Given the description of an element on the screen output the (x, y) to click on. 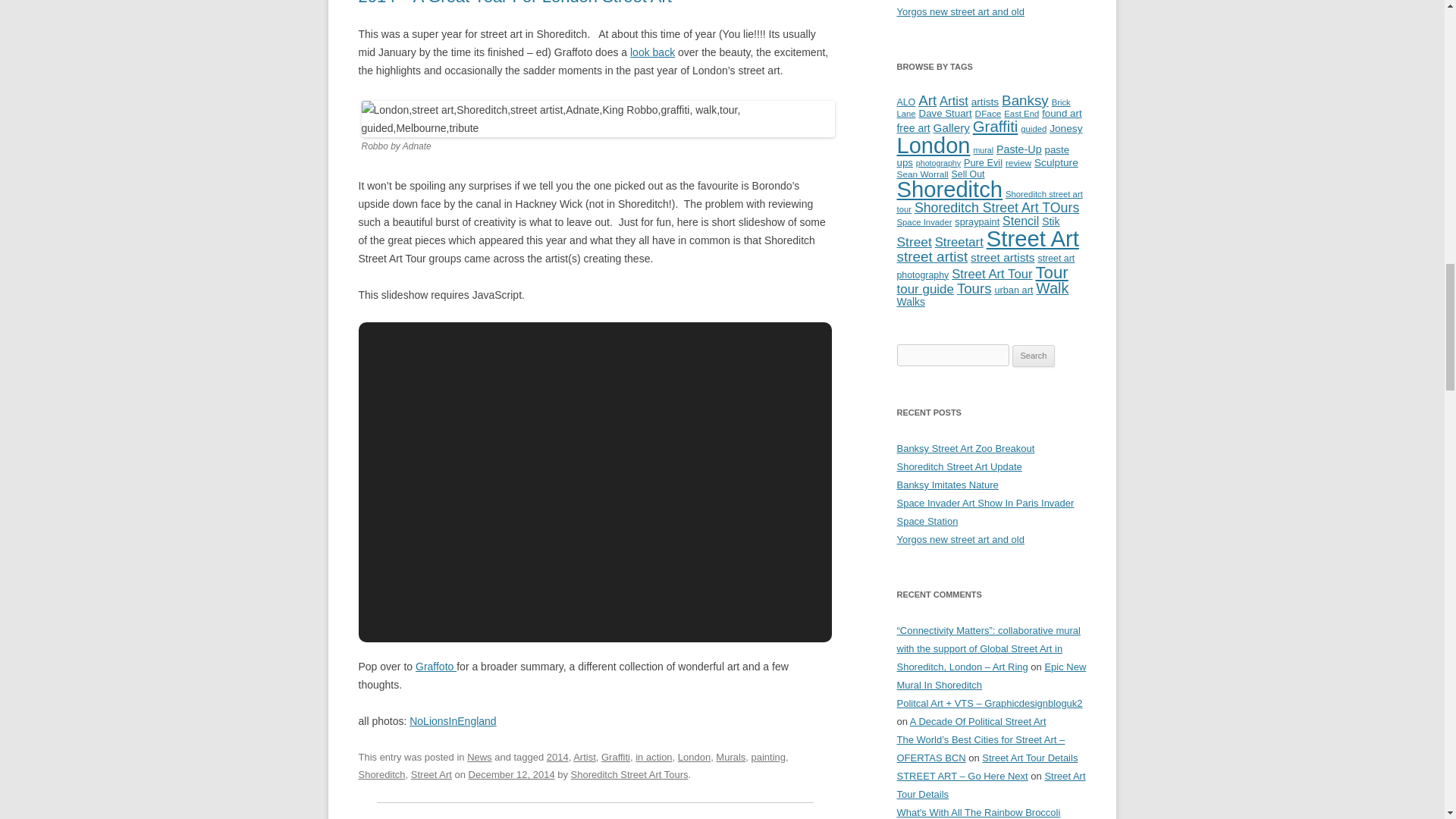
16:31 (511, 774)
View all posts by Shoreditch Street Art Tours (629, 774)
look back (652, 51)
Search (1033, 355)
